Given the description of an element on the screen output the (x, y) to click on. 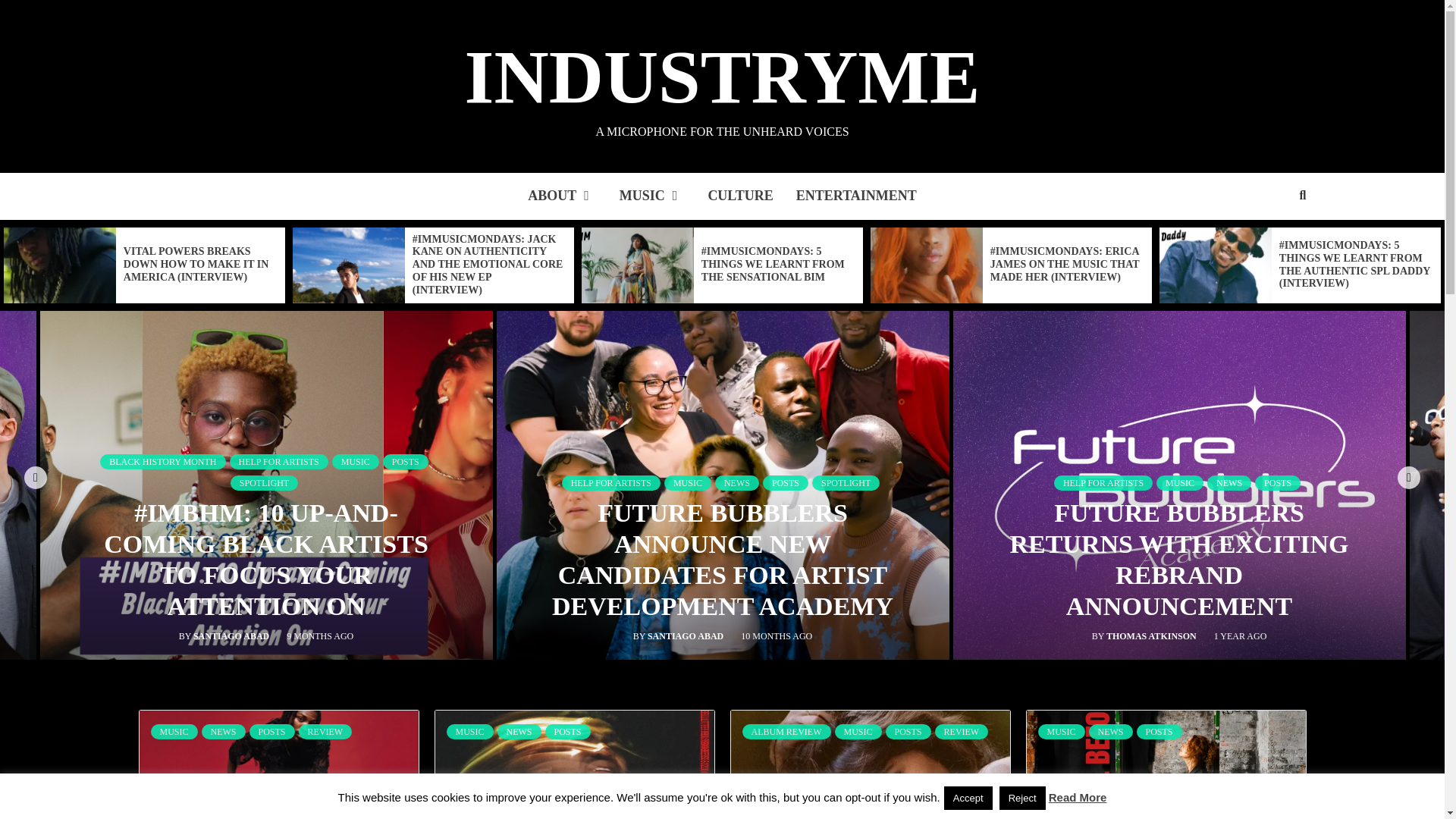
ENTERTAINMENT (856, 196)
CULTURE (739, 196)
INDUSTRYME (722, 76)
ABOUT (562, 196)
MUSIC (652, 196)
